Given the description of an element on the screen output the (x, y) to click on. 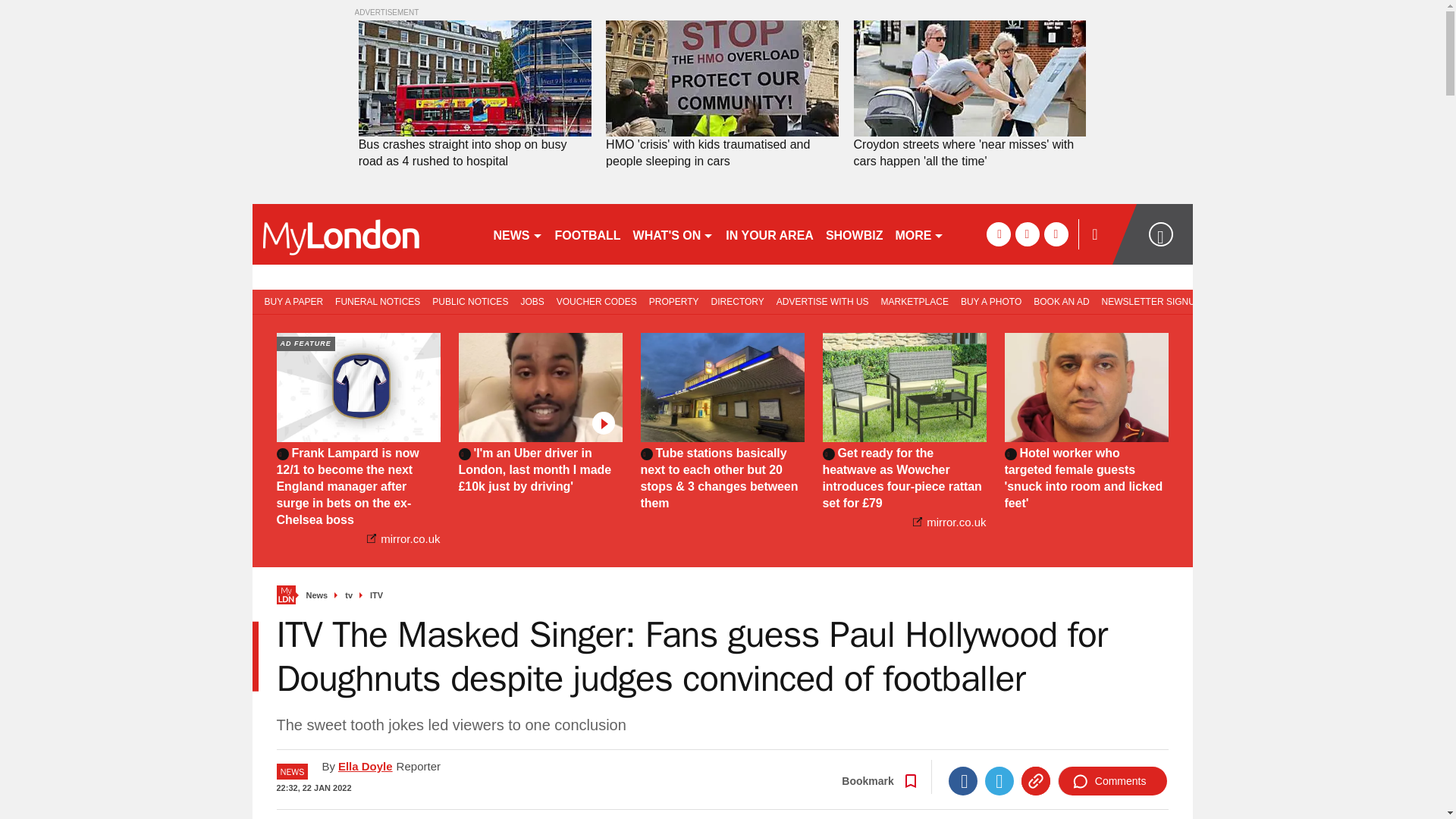
FOOTBALL (587, 233)
NEWS (517, 233)
Comments (1112, 780)
WHAT'S ON (673, 233)
facebook (997, 233)
Facebook (962, 780)
instagram (1055, 233)
twitter (1026, 233)
getwestlondon (365, 233)
